Given the description of an element on the screen output the (x, y) to click on. 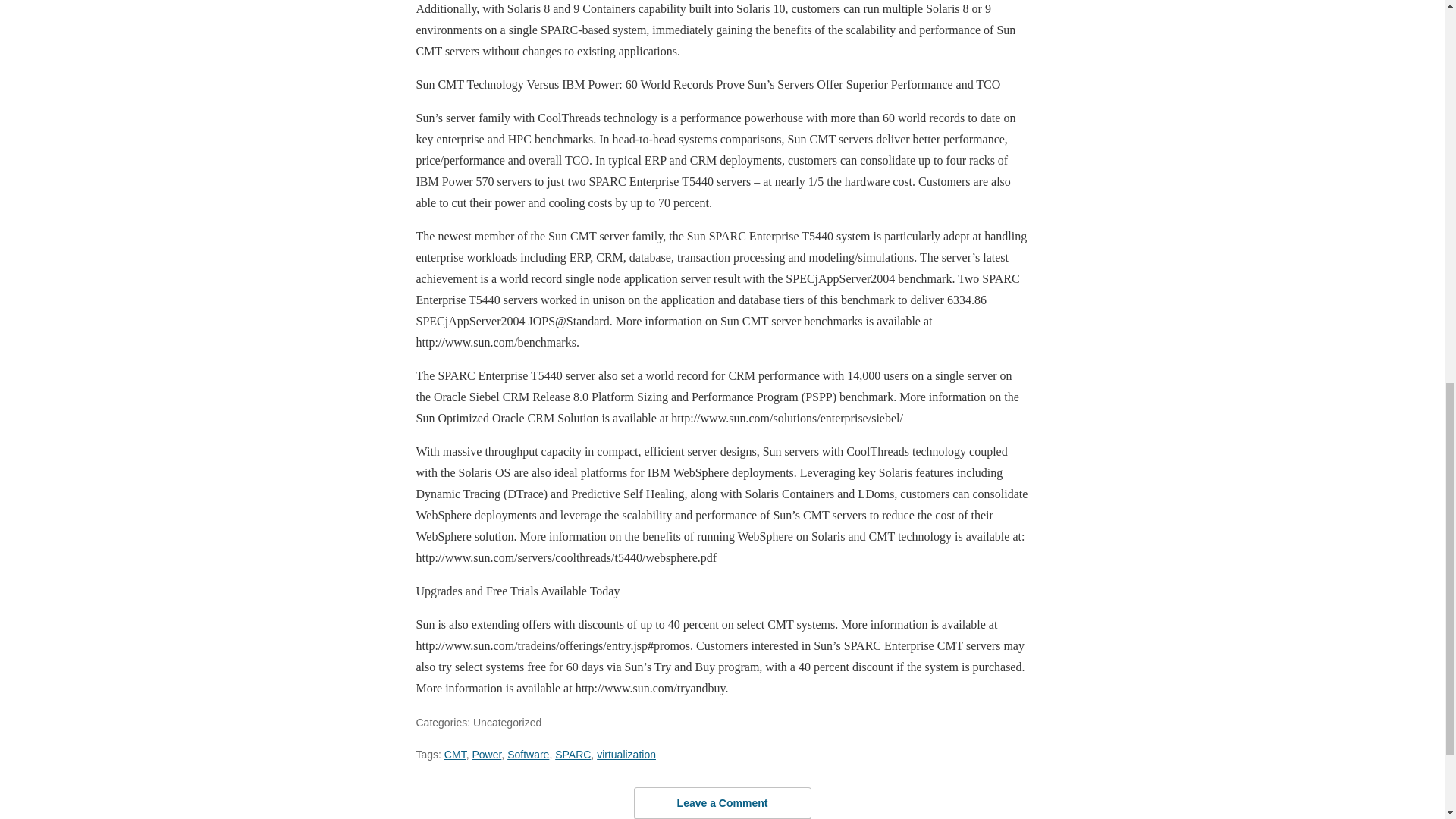
Power (485, 754)
Software (527, 754)
Leave a Comment (721, 803)
CMT (454, 754)
virtualization (626, 754)
SPARC (572, 754)
